Given the description of an element on the screen output the (x, y) to click on. 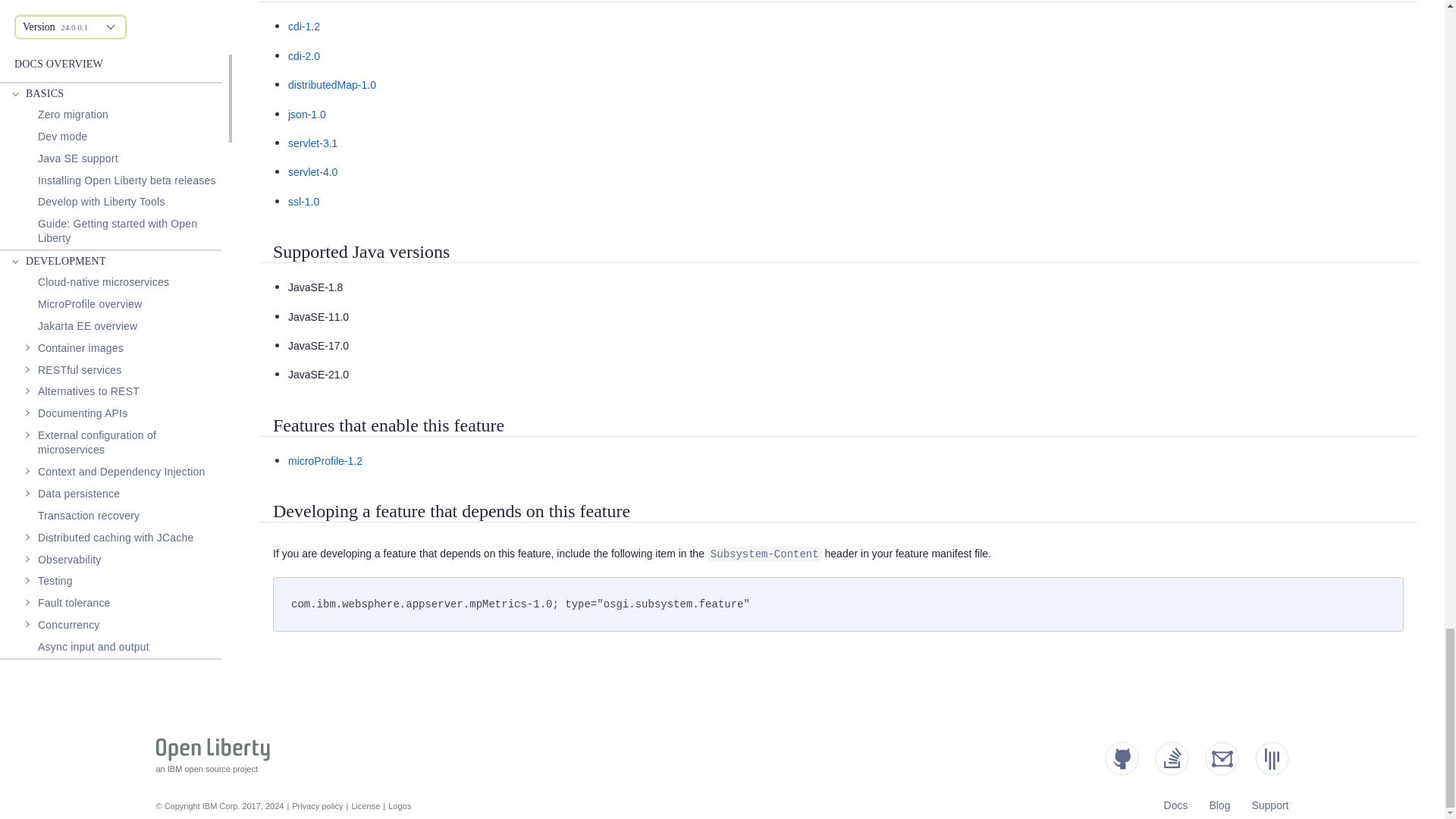
Code block (838, 604)
